Given the description of an element on the screen output the (x, y) to click on. 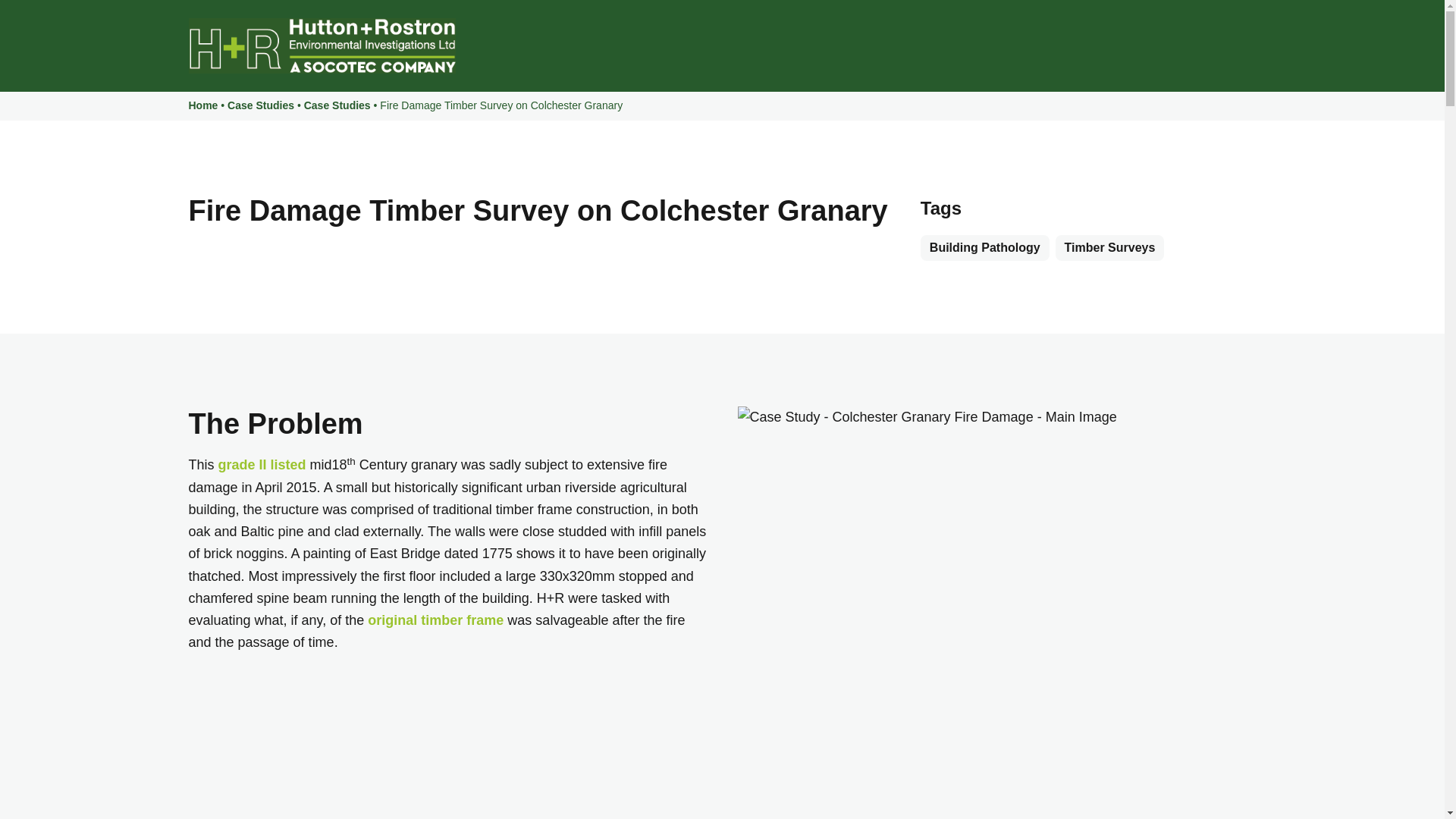
Hutton and Rostron (320, 45)
